Given the description of an element on the screen output the (x, y) to click on. 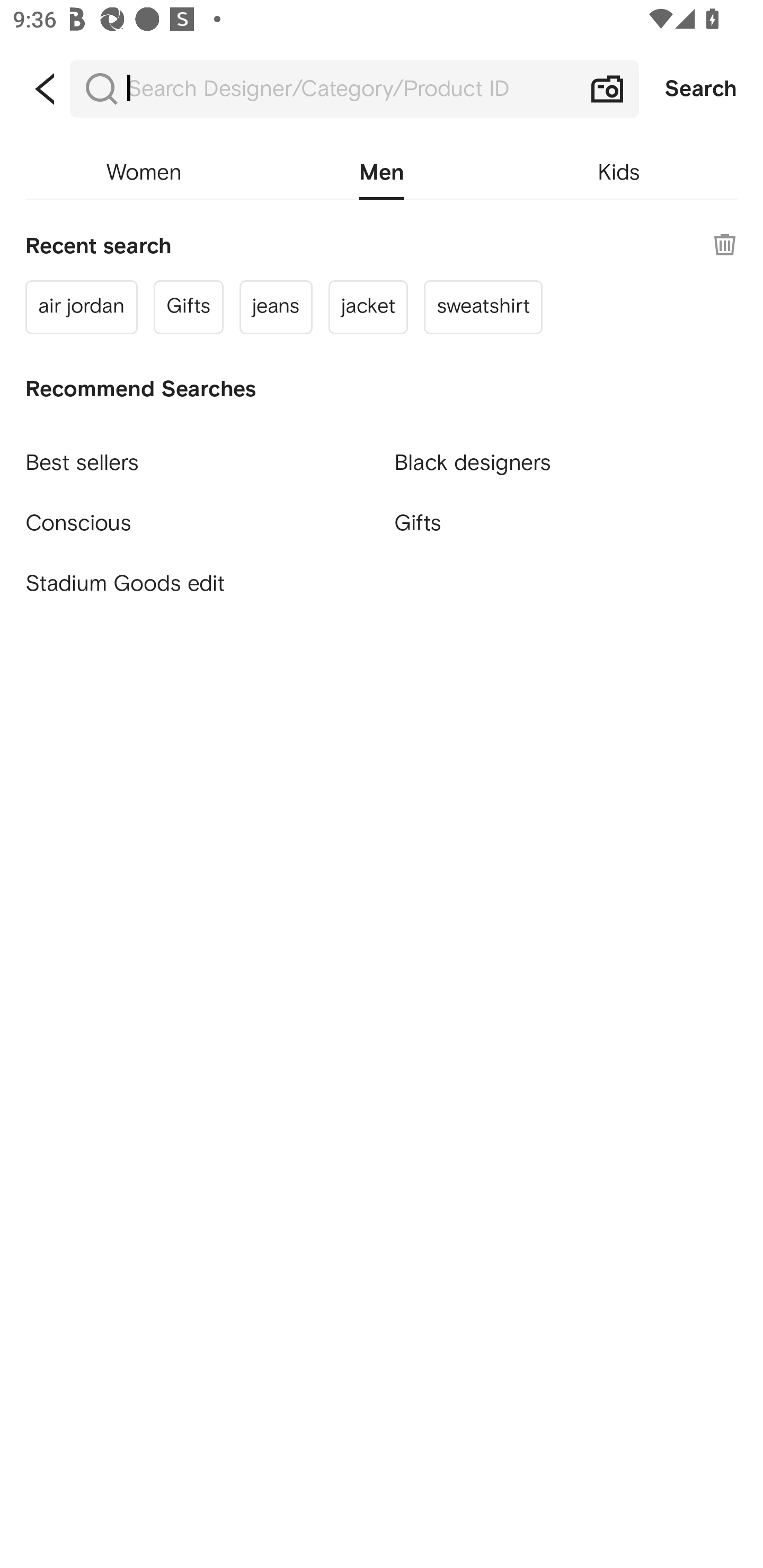
Search (701, 89)
Women (143, 172)
Kids (618, 172)
air jordan (81, 306)
Gifts (188, 306)
jeans (276, 306)
jacket (368, 306)
sweatshirt (482, 306)
Best sellers (196, 454)
Black designers (565, 454)
Conscious (196, 514)
Gifts (565, 522)
Stadium Goods edit (196, 583)
